Given the description of an element on the screen output the (x, y) to click on. 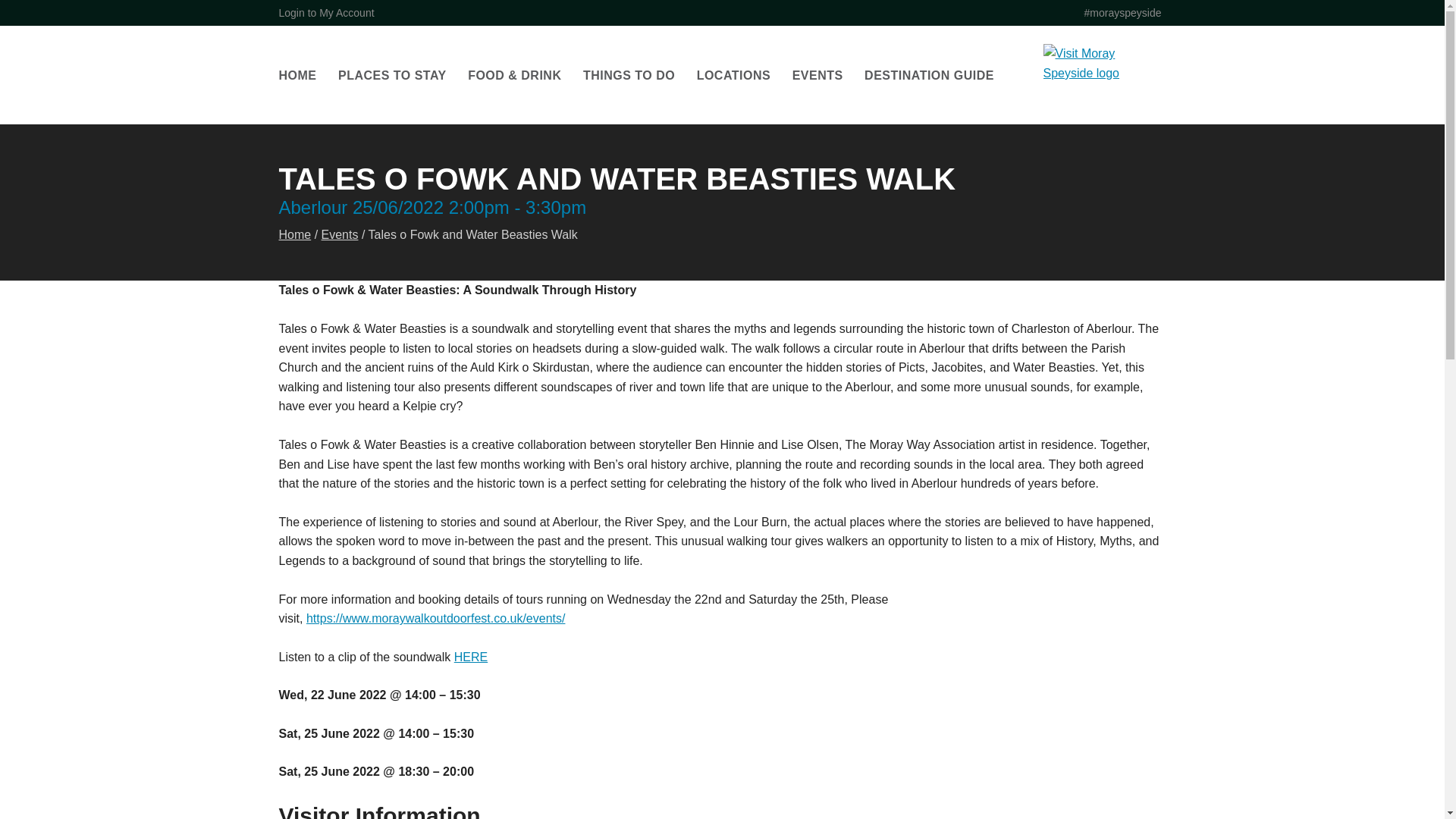
DESTINATION GUIDE (929, 75)
Login to My Account (326, 12)
HERE (470, 656)
Visit Moray Speyside (1104, 75)
Events (339, 234)
Home (295, 234)
PLACES TO STAY (391, 75)
LOCATIONS (734, 75)
EVENTS (817, 75)
